Given the description of an element on the screen output the (x, y) to click on. 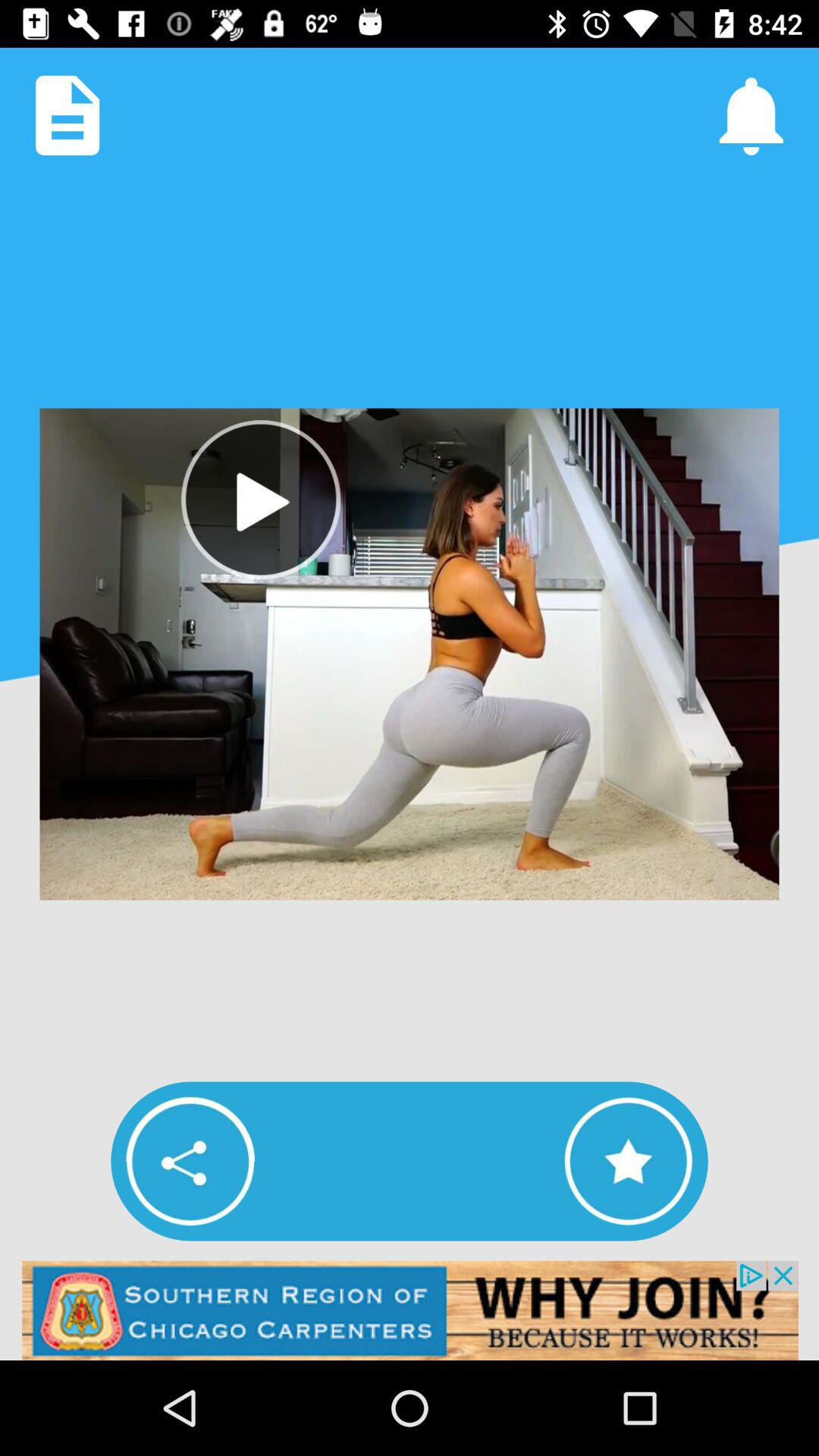
set alarm (751, 115)
